Given the description of an element on the screen output the (x, y) to click on. 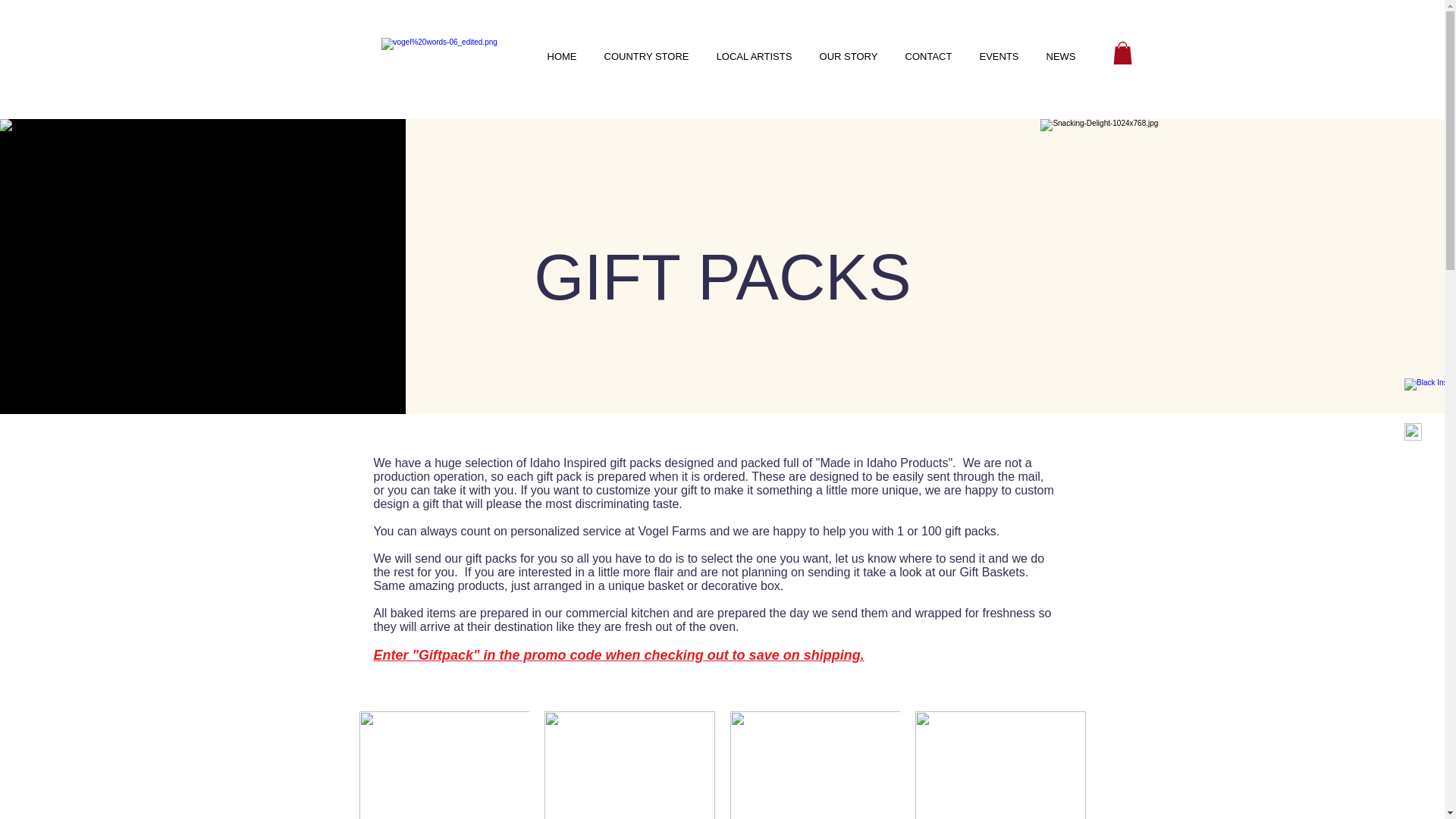
COUNTRY STORE (645, 56)
OUR STORY (848, 56)
NEWS (1060, 56)
CONTACT (928, 56)
LOCAL ARTISTS (753, 56)
HOME (562, 56)
EVENTS (999, 56)
